Given the description of an element on the screen output the (x, y) to click on. 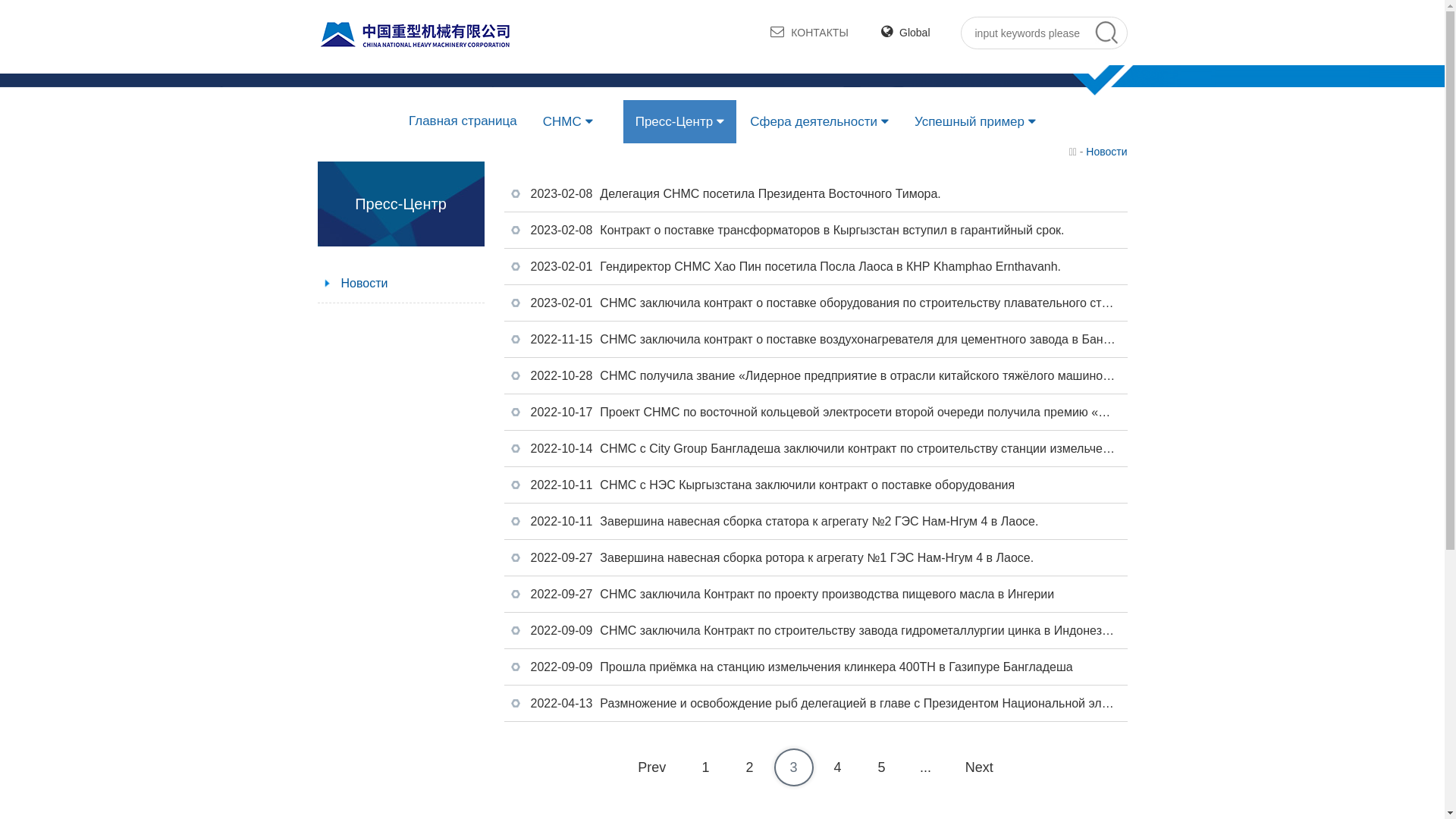
4 Element type: text (836, 767)
5 Element type: text (880, 767)
Next Element type: text (979, 767)
... Element type: text (924, 767)
3 Element type: text (792, 767)
1 Element type: text (704, 767)
Prev Element type: text (651, 767)
Global Element type: text (905, 32)
2 Element type: text (748, 767)
